Given the description of an element on the screen output the (x, y) to click on. 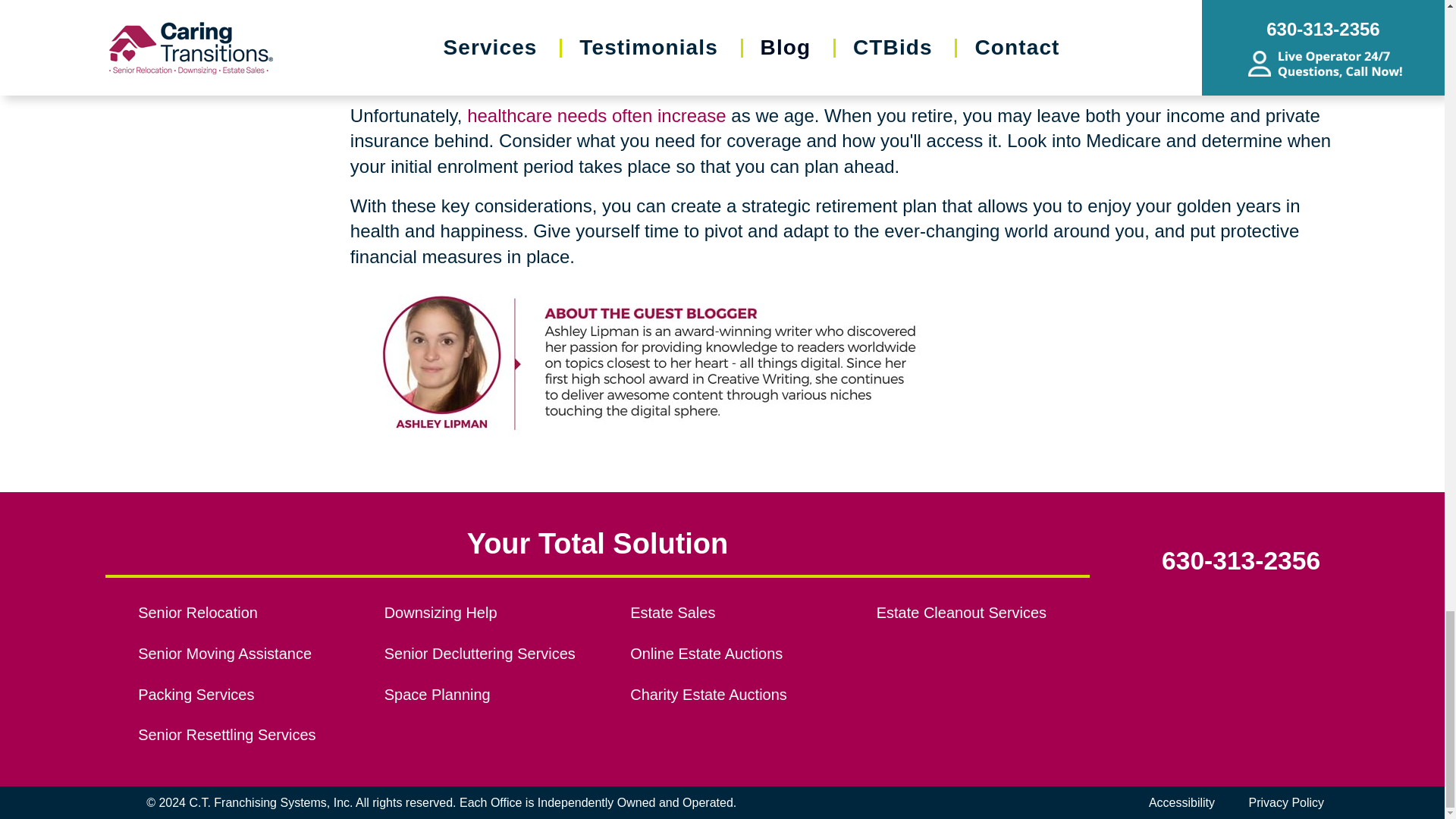
Downsizing Help (490, 613)
Senior Moving Assistance (244, 654)
healthcare needs often increase (596, 115)
Packing Services (244, 695)
Senior Decluttering Services (490, 654)
Senior Relocation (244, 613)
Senior Resettling Services (244, 735)
